Given the description of an element on the screen output the (x, y) to click on. 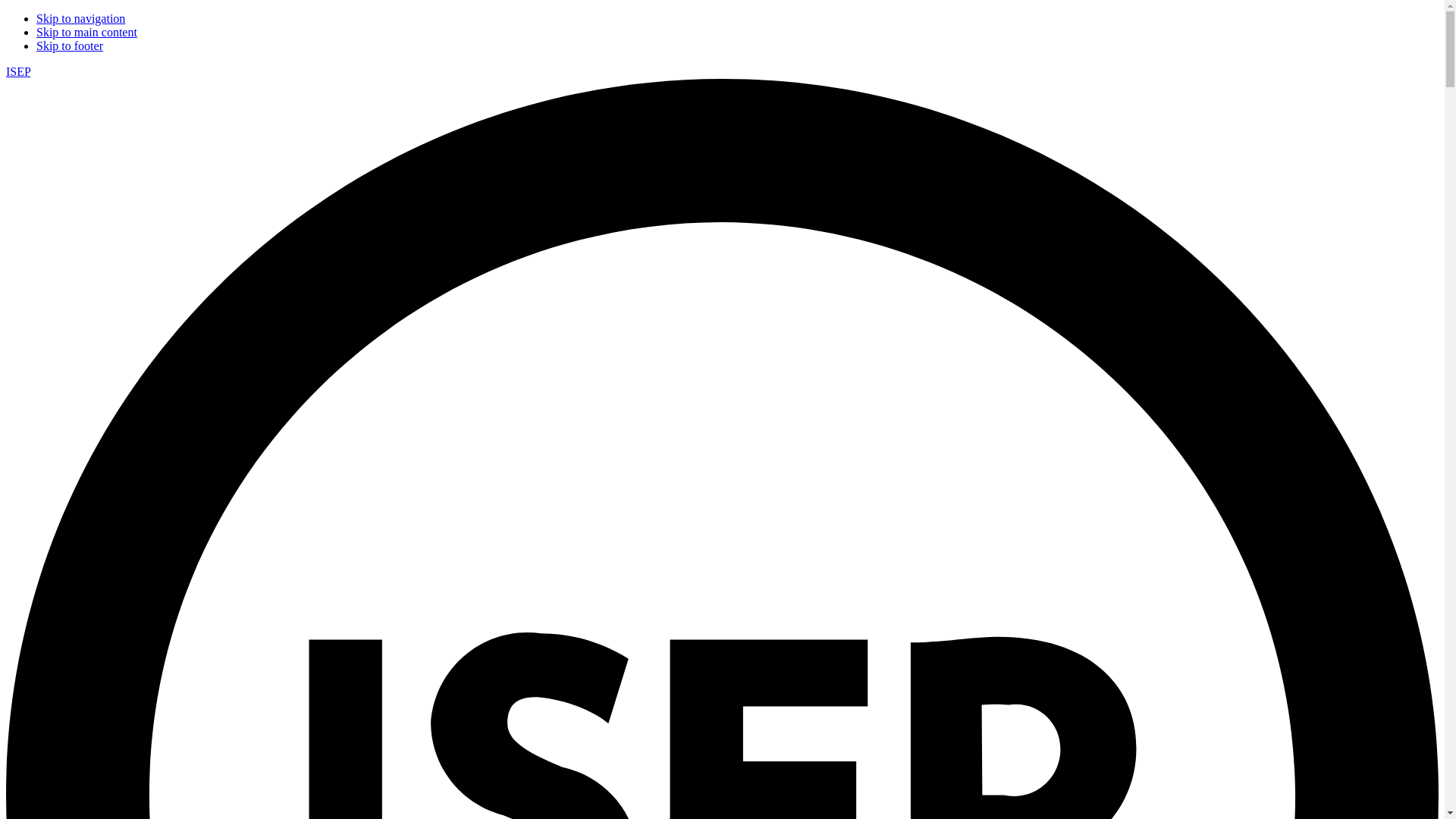
Skip to navigation (80, 18)
Skip to footer (69, 45)
Skip to main content (86, 31)
